Given the description of an element on the screen output the (x, y) to click on. 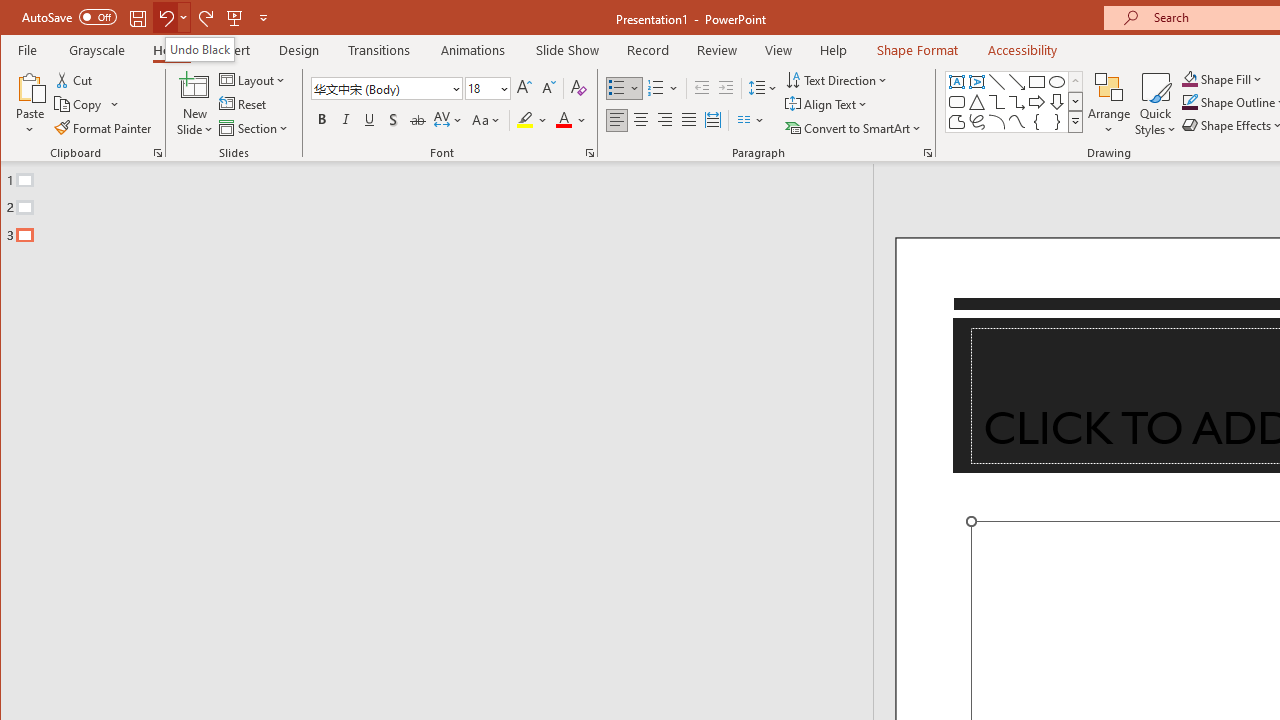
Freeform: Scribble (976, 121)
Reset (244, 103)
Font (380, 88)
Underline (369, 119)
Text Box (956, 82)
Bold (321, 119)
Accessibility (1023, 50)
Line (996, 82)
New Slide (195, 104)
Strikethrough (417, 119)
Shape Outline Blue, Accent 1 (1189, 101)
